Given the description of an element on the screen output the (x, y) to click on. 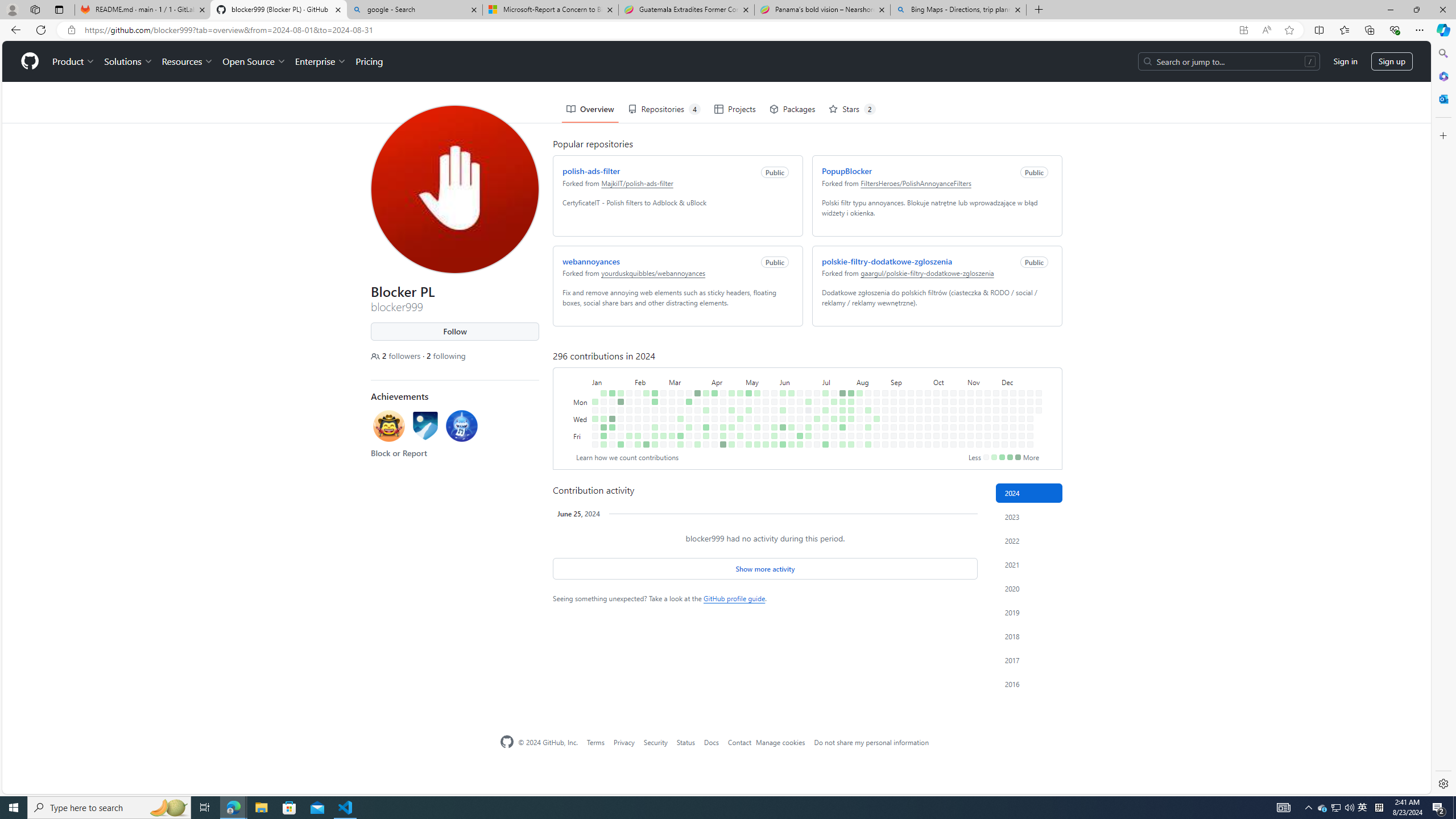
1 contribution on July 7th. (823, 351)
No contributions on January 30th. (627, 369)
2024 (1028, 492)
No contributions on May 2nd. (738, 386)
1 contribution on June 24th. (806, 360)
2 following (443, 314)
Friday (579, 394)
1 contribution on May 16th. (754, 386)
No contributions on October 25th. (953, 435)
No contributions on February 14th. (643, 377)
No contributions on April 10th. (711, 377)
No contributions on May 13th. (754, 360)
No contributions on March 26th. (694, 369)
